Given the description of an element on the screen output the (x, y) to click on. 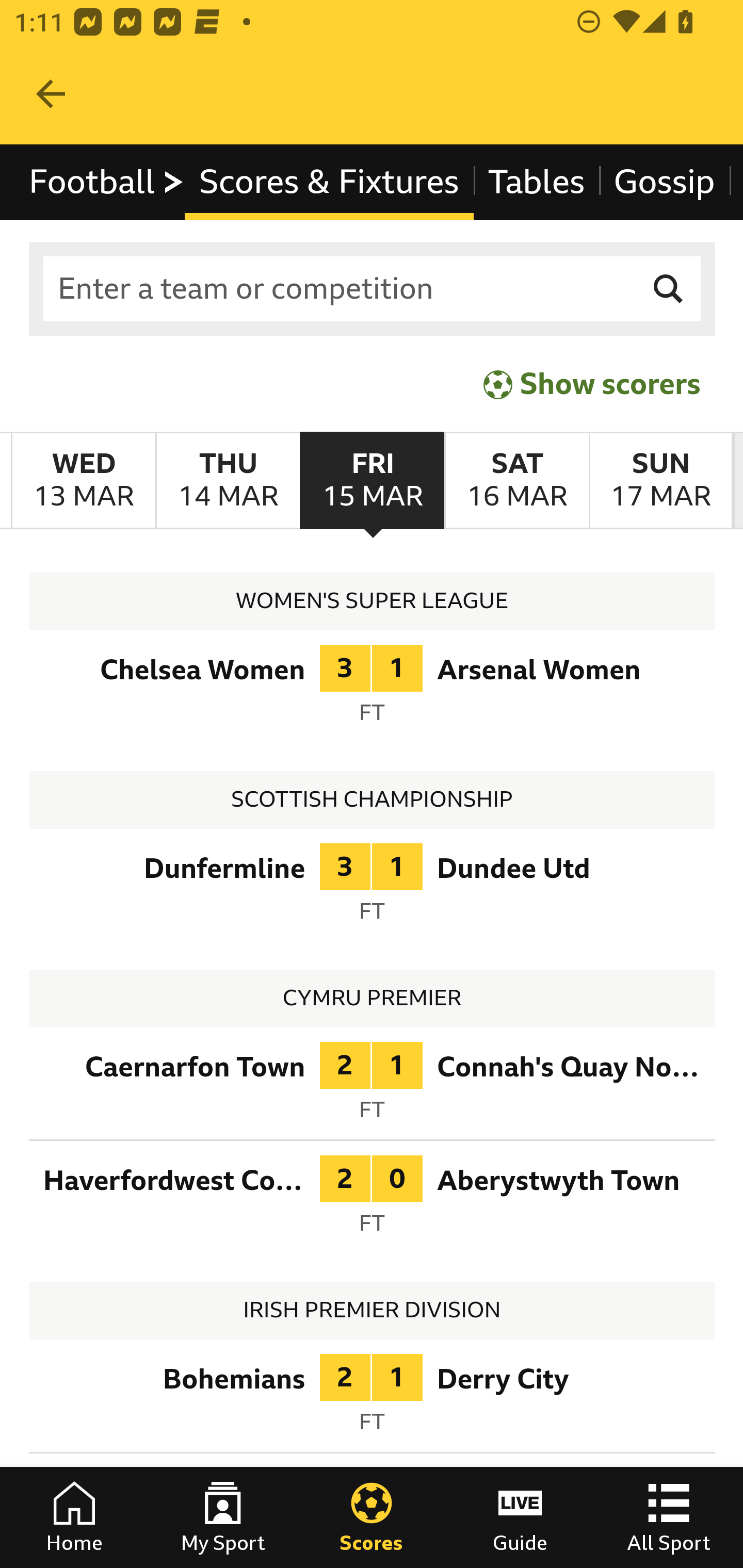
Navigate up (50, 93)
Football  (106, 181)
Scores & Fixtures (329, 181)
Tables (536, 181)
Gossip (664, 181)
Search (669, 289)
Show scorers (591, 383)
WednesdayMarch 13th Wednesday March 13th (83, 480)
ThursdayMarch 14th Thursday March 14th (227, 480)
SaturdayMarch 16th Saturday March 16th (516, 480)
SundayMarch 17th Sunday March 17th (660, 480)
68508406 Chelsea Women 3 Arsenal Women 1 Full Time (372, 689)
68474818 Dunfermline 3 Dundee United 1 Full Time (372, 888)
Home (74, 1517)
My Sport (222, 1517)
Guide (519, 1517)
All Sport (668, 1517)
